Given the description of an element on the screen output the (x, y) to click on. 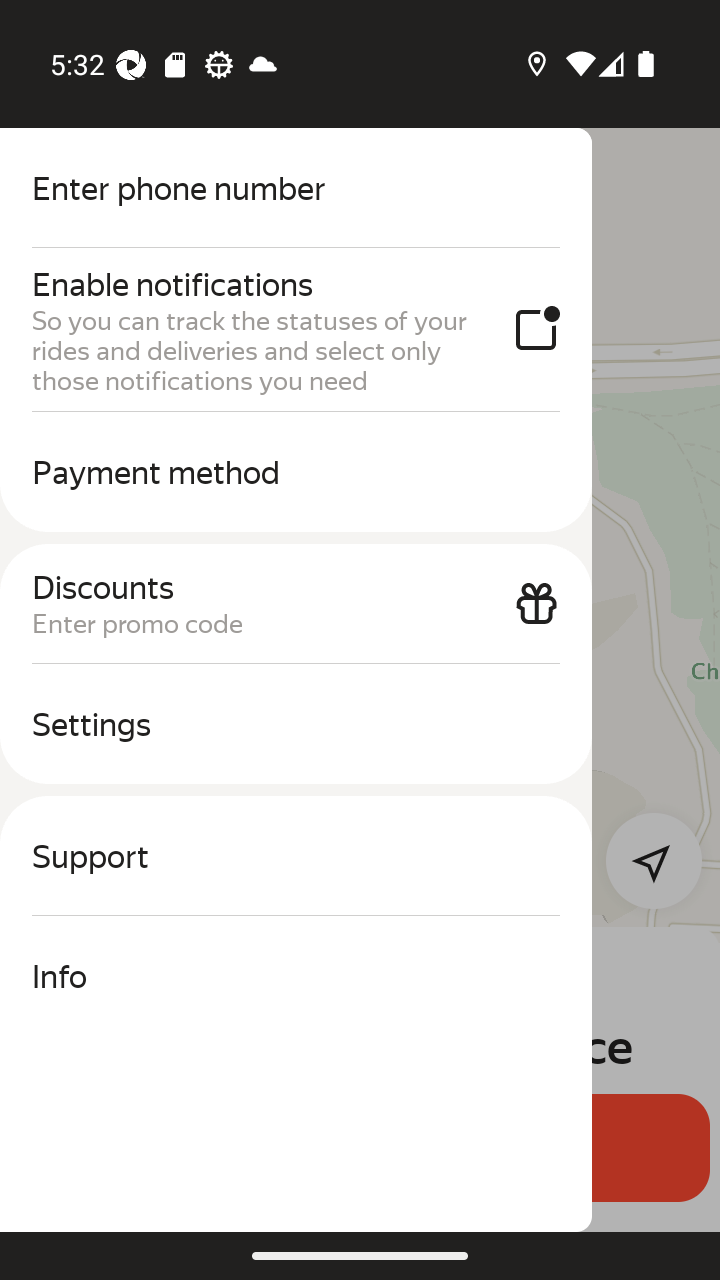
Enter phone number (295, 188)
Payment method (295, 472)
Settings (295, 723)
Support (295, 856)
Info (295, 975)
